Given the description of an element on the screen output the (x, y) to click on. 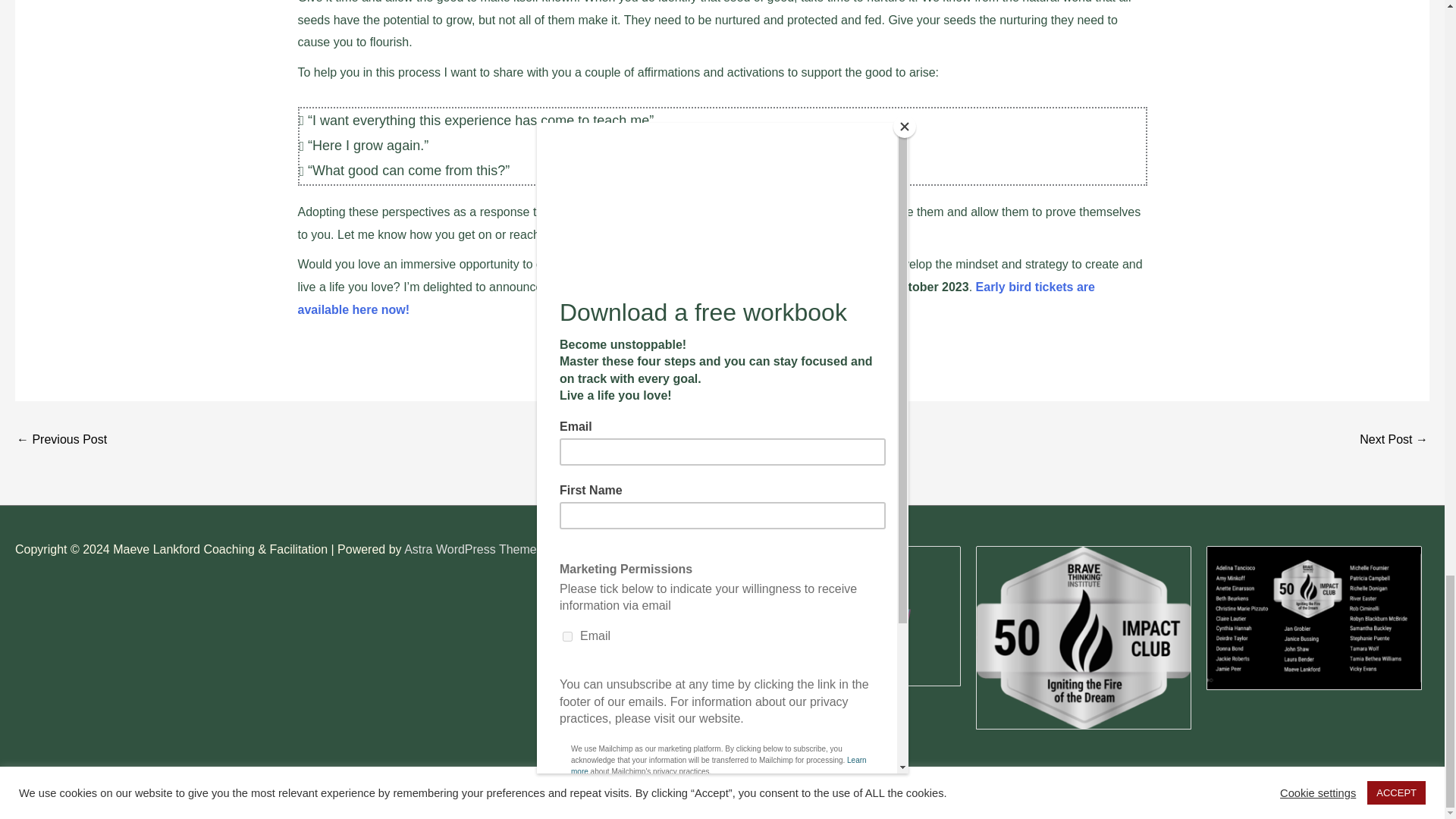
Astra WordPress Theme (470, 549)
Why You Need To Think Like a Farmer (1393, 440)
The Power of Inversion (61, 440)
Early bird tickets are available here now! (695, 298)
